Given the description of an element on the screen output the (x, y) to click on. 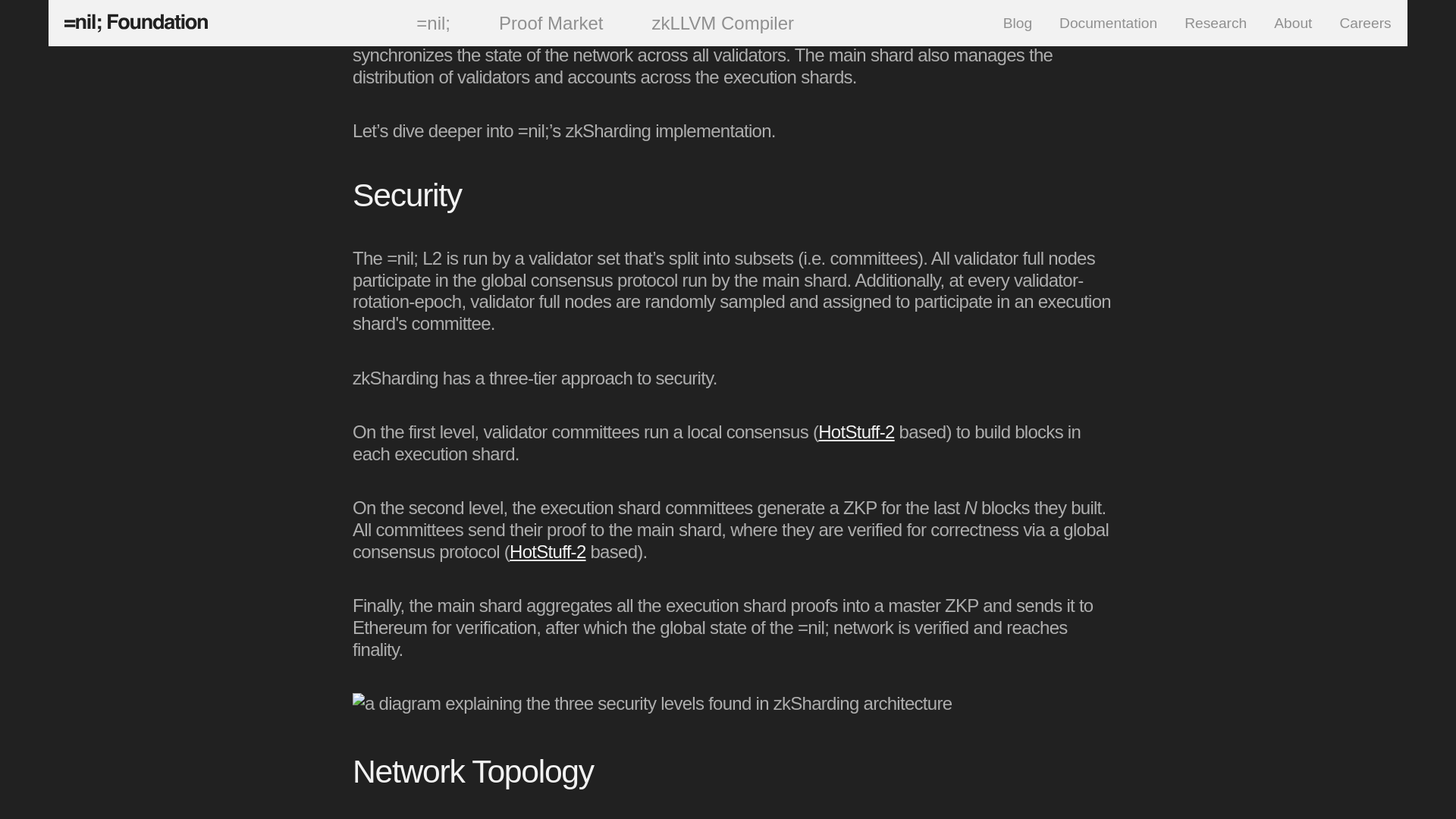
HotStuff-2 (855, 431)
HotStuff-2 (547, 551)
